Given the description of an element on the screen output the (x, y) to click on. 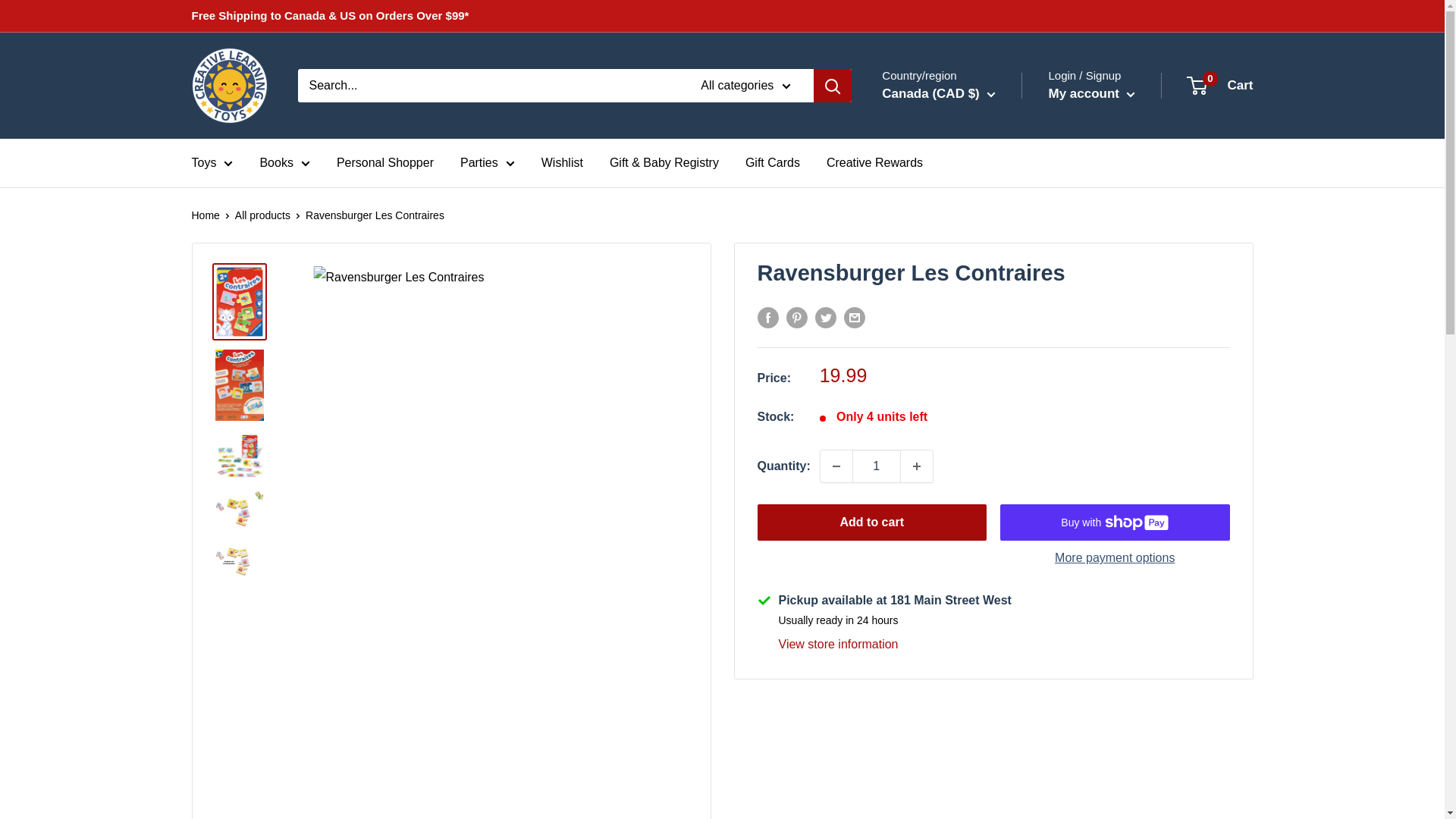
1 (876, 466)
Increase quantity by 1 (917, 466)
Decrease quantity by 1 (836, 466)
